Given the description of an element on the screen output the (x, y) to click on. 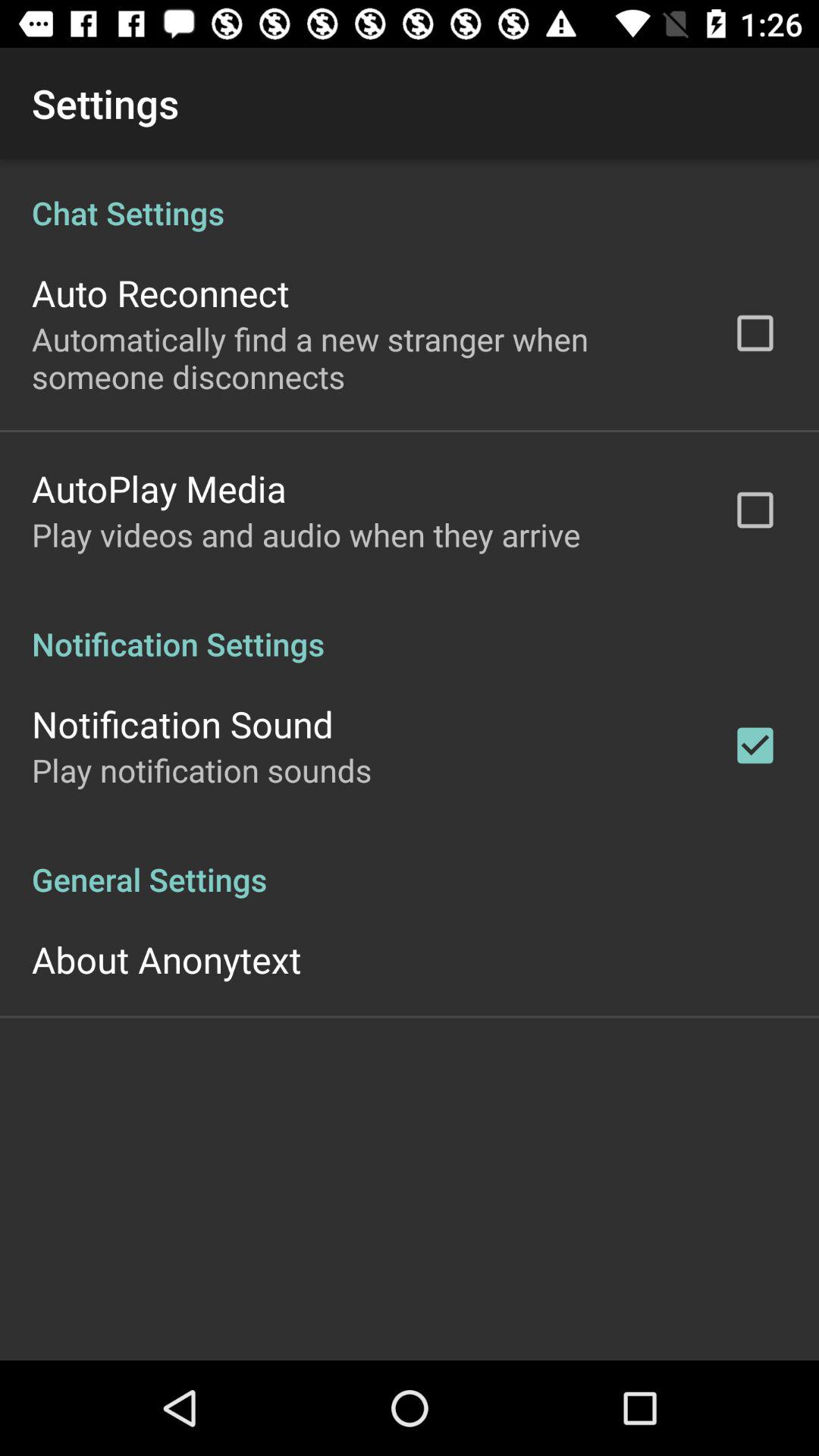
launch the item below the settings icon (409, 759)
